Given the description of an element on the screen output the (x, y) to click on. 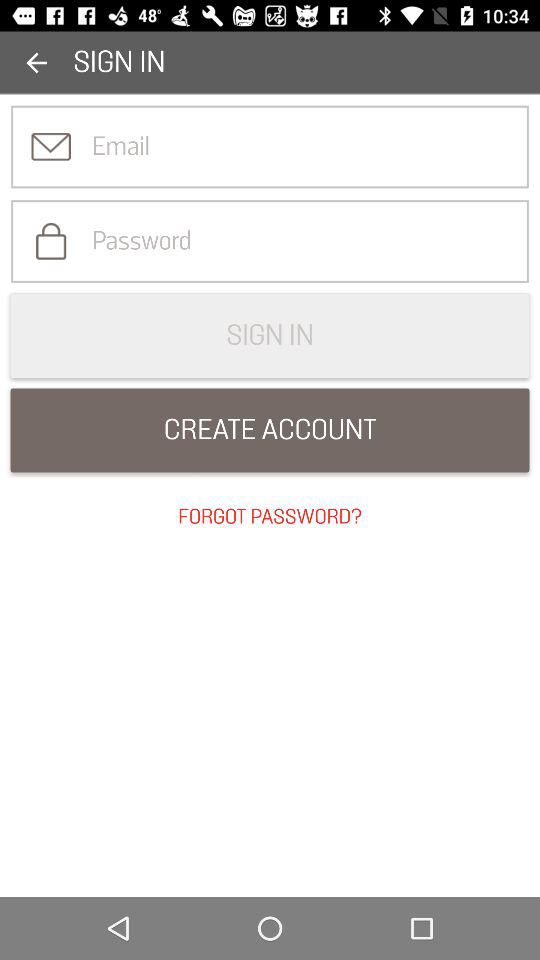
click icon to the left of the sign in item (36, 62)
